Given the description of an element on the screen output the (x, y) to click on. 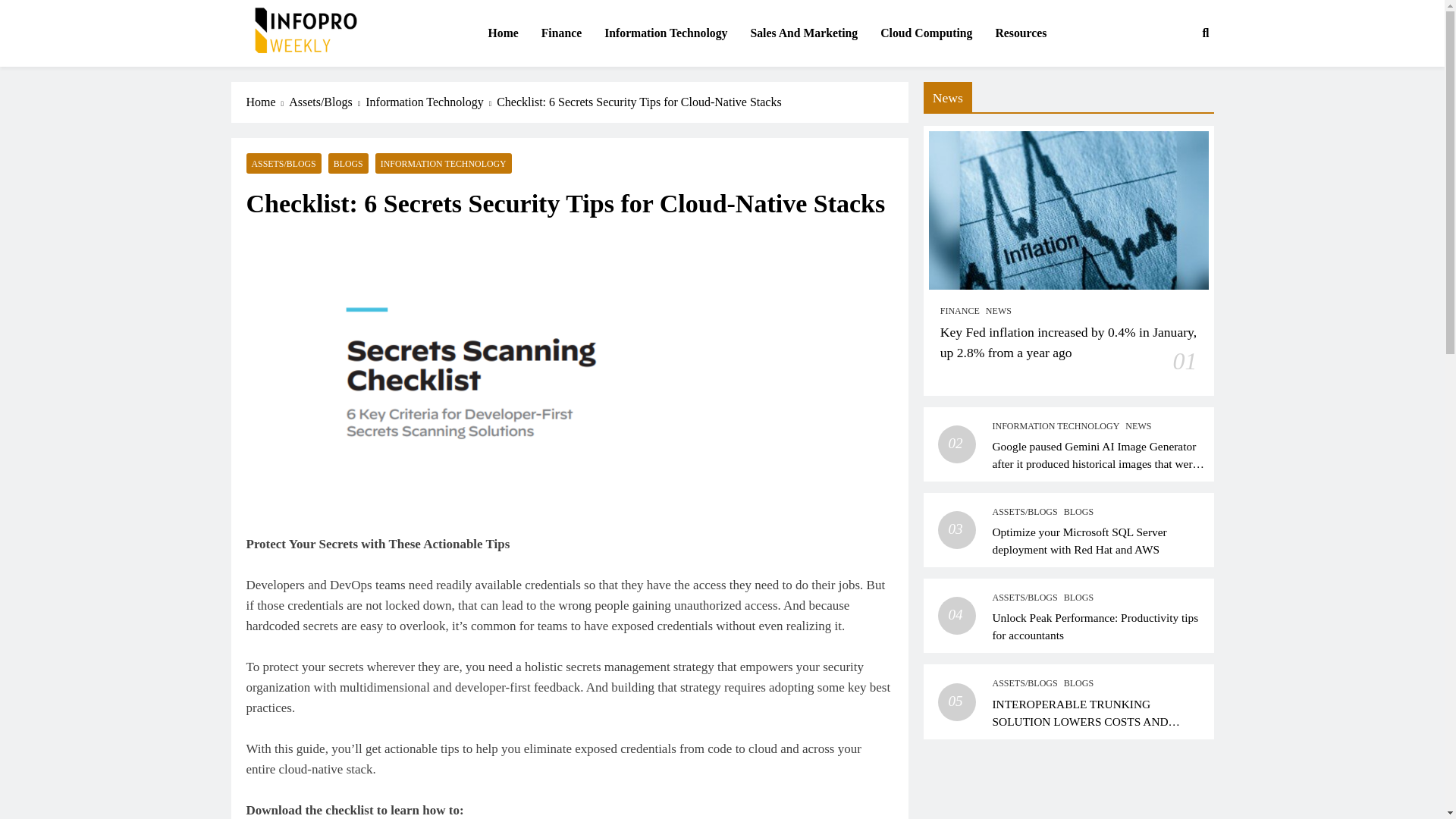
INFORMATION TECHNOLOGY (1055, 426)
InfoProWeekly (306, 76)
BLOGS (348, 163)
Information Technology (430, 102)
INFORMATION TECHNOLOGY (443, 163)
Home (502, 33)
NEWS (998, 310)
Finance (560, 33)
FINANCE (959, 310)
Home (267, 102)
NEWS (1138, 426)
Resources (1021, 33)
Cloud Computing (926, 33)
Sales And Marketing (803, 33)
